Given the description of an element on the screen output the (x, y) to click on. 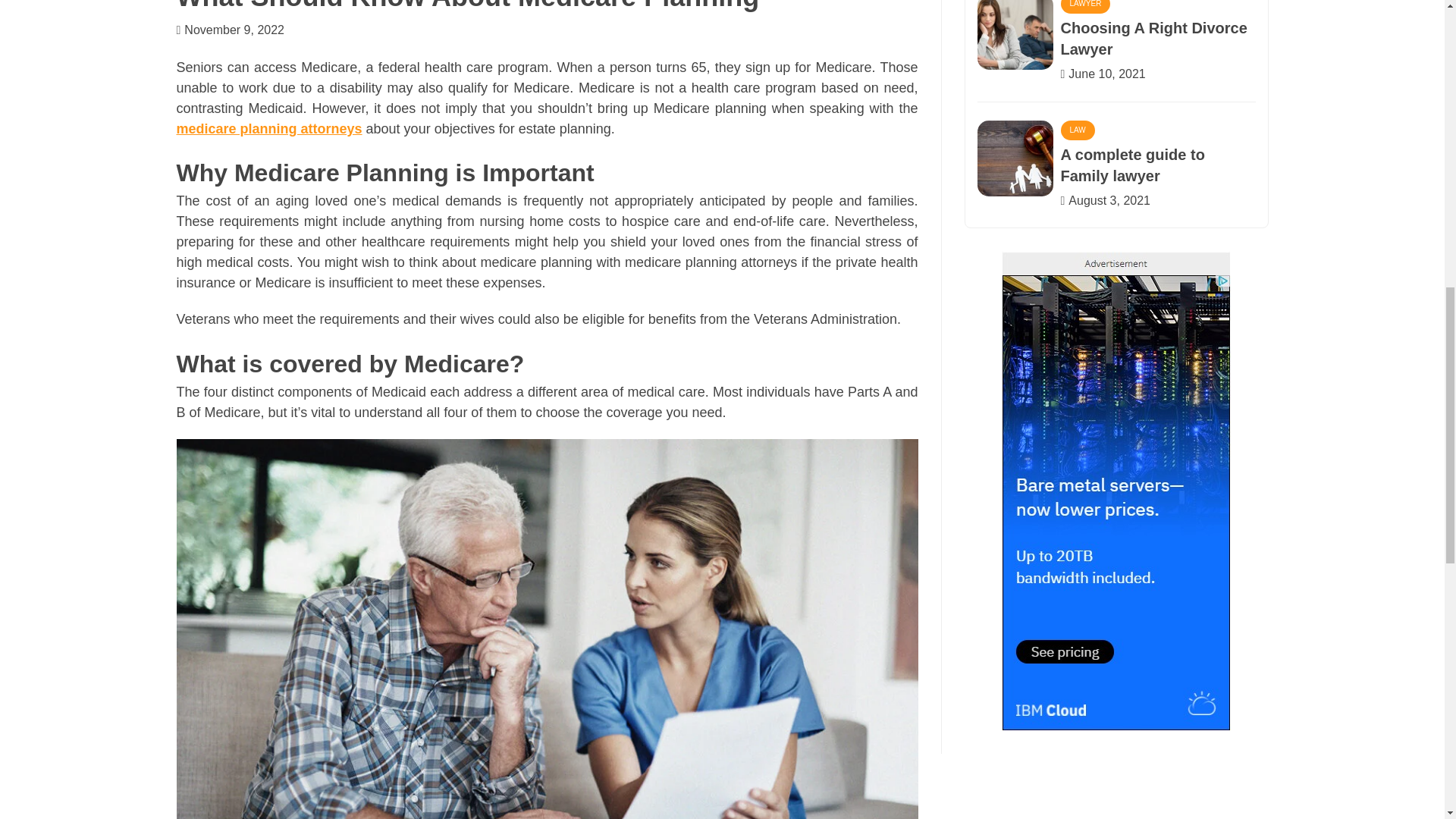
LAW (1076, 130)
LAWYER (1084, 6)
November 9, 2022 (233, 29)
What Should Know About Medicare Planning (467, 6)
Choosing A Right Divorce Lawyer (1152, 38)
August 3, 2021 (1109, 200)
A complete guide to Family lawyer (1131, 165)
June 10, 2021 (1106, 73)
medicare planning attorneys (268, 128)
